Given the description of an element on the screen output the (x, y) to click on. 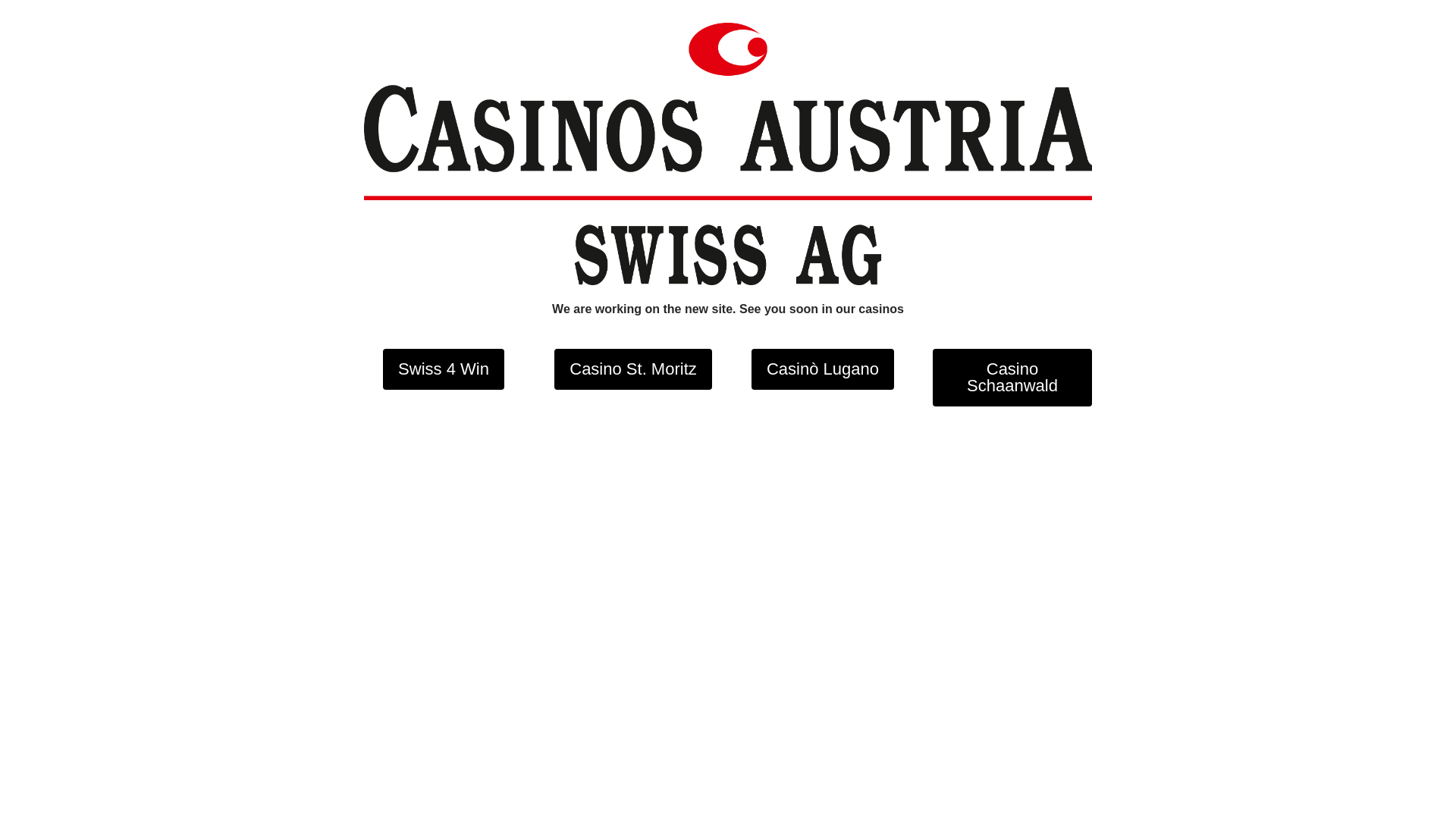
Casino Schaanwald Element type: text (1012, 377)
Casino St. Moritz Element type: text (633, 368)
Swiss 4 Win Element type: text (443, 368)
